Given the description of an element on the screen output the (x, y) to click on. 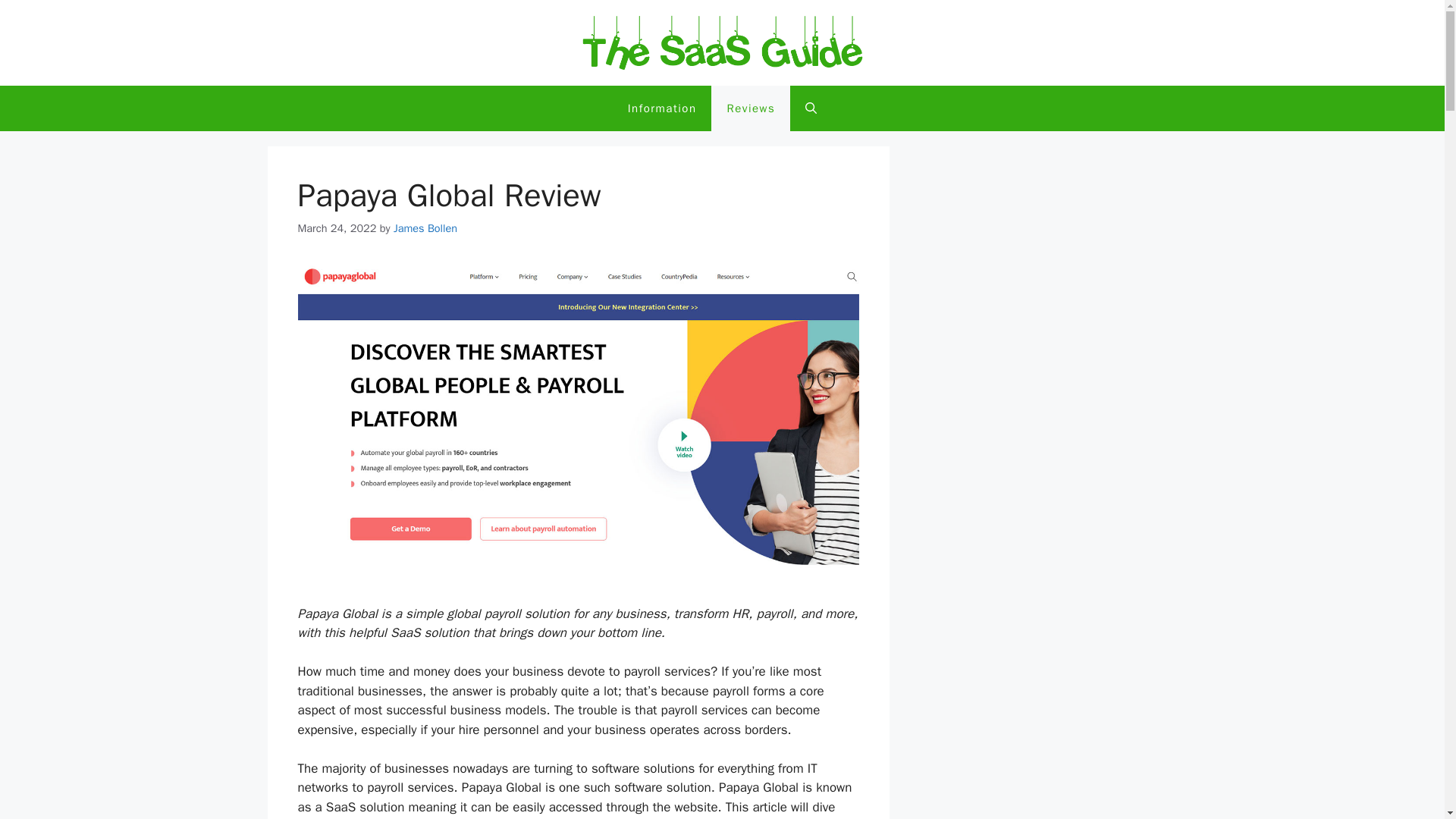
Reviews (750, 108)
Information (661, 108)
James Bollen (425, 228)
View all posts by James Bollen (425, 228)
